Given the description of an element on the screen output the (x, y) to click on. 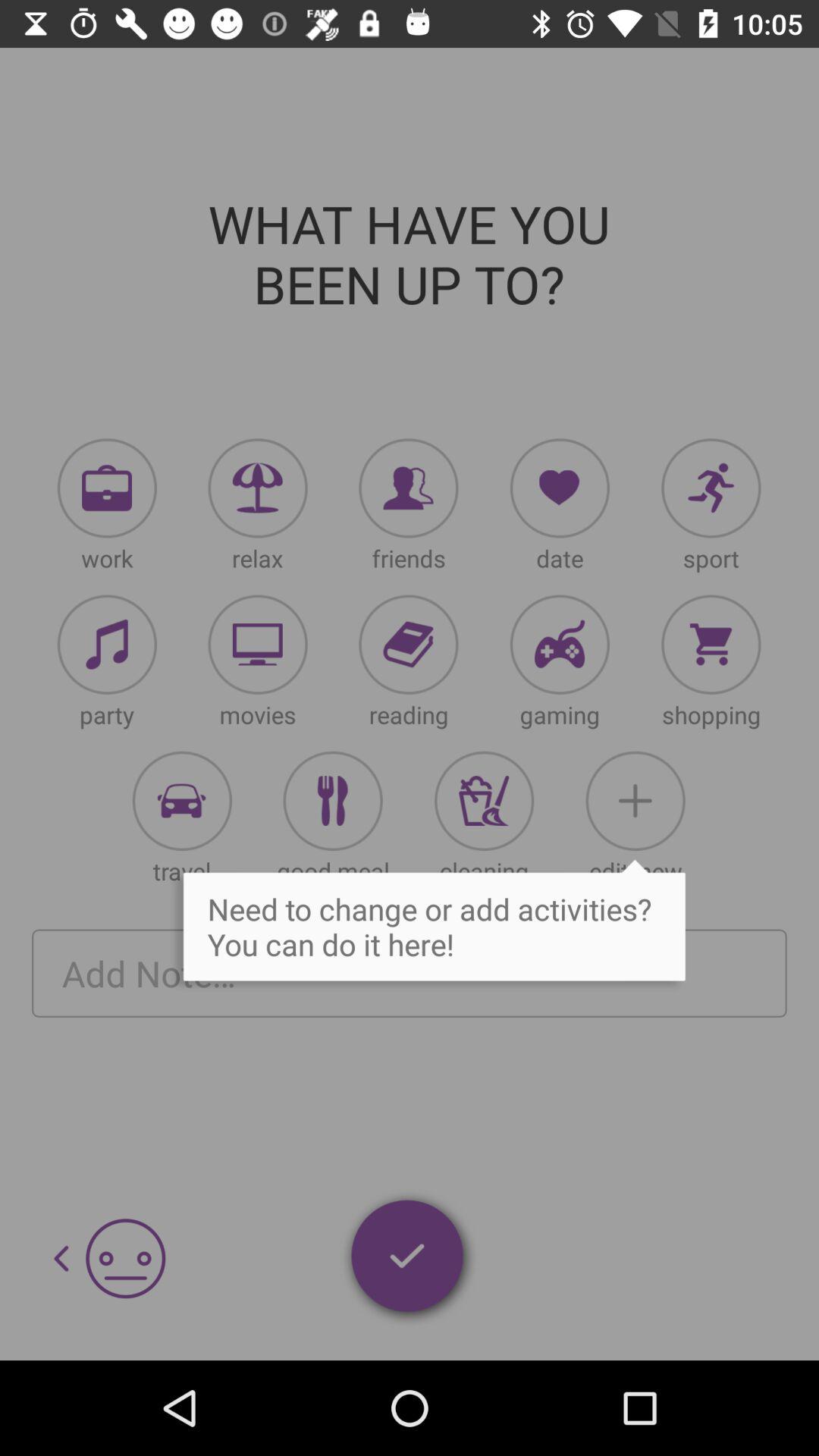
select travel (182, 800)
